Given the description of an element on the screen output the (x, y) to click on. 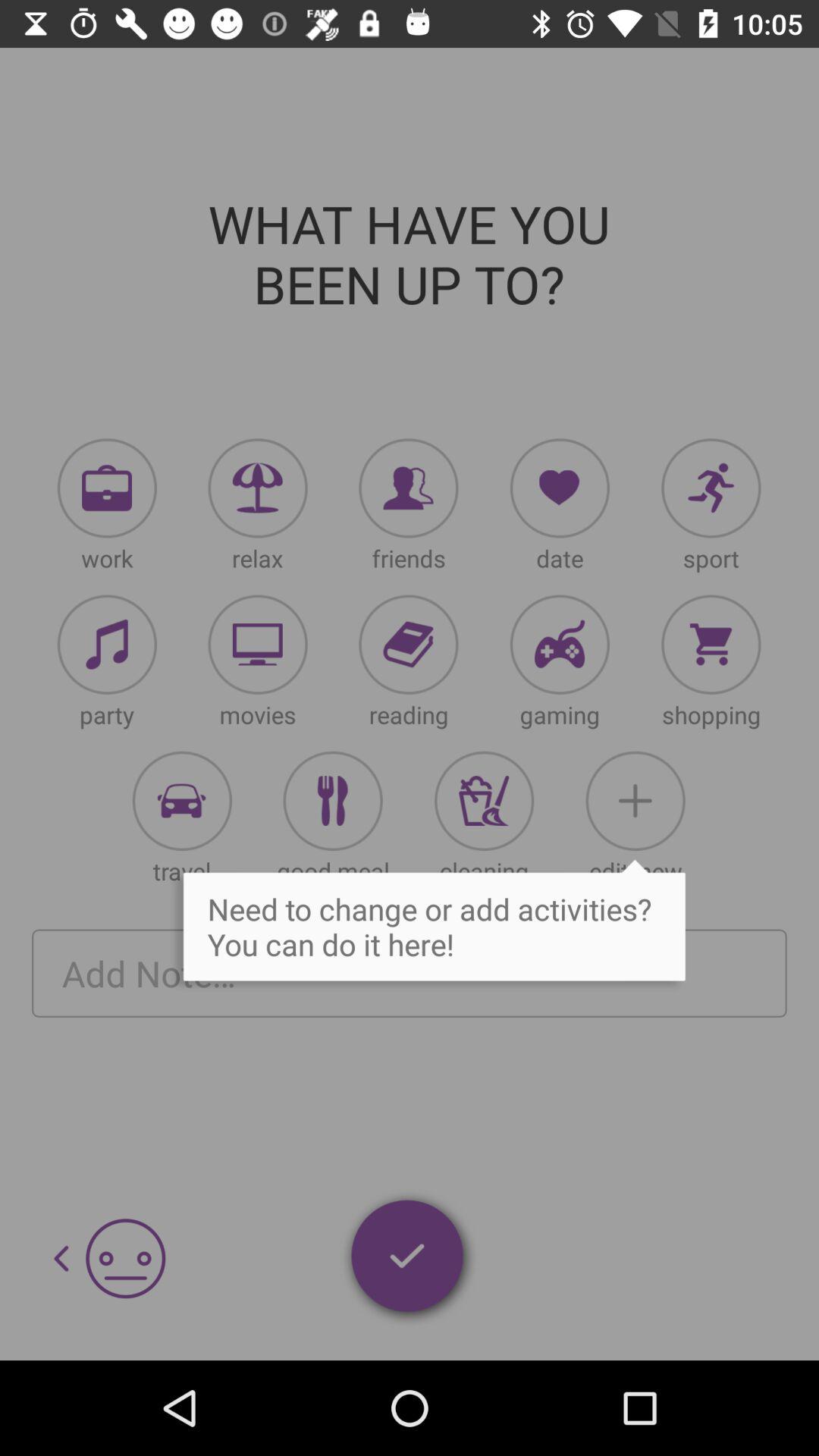
select travel (182, 800)
